Given the description of an element on the screen output the (x, y) to click on. 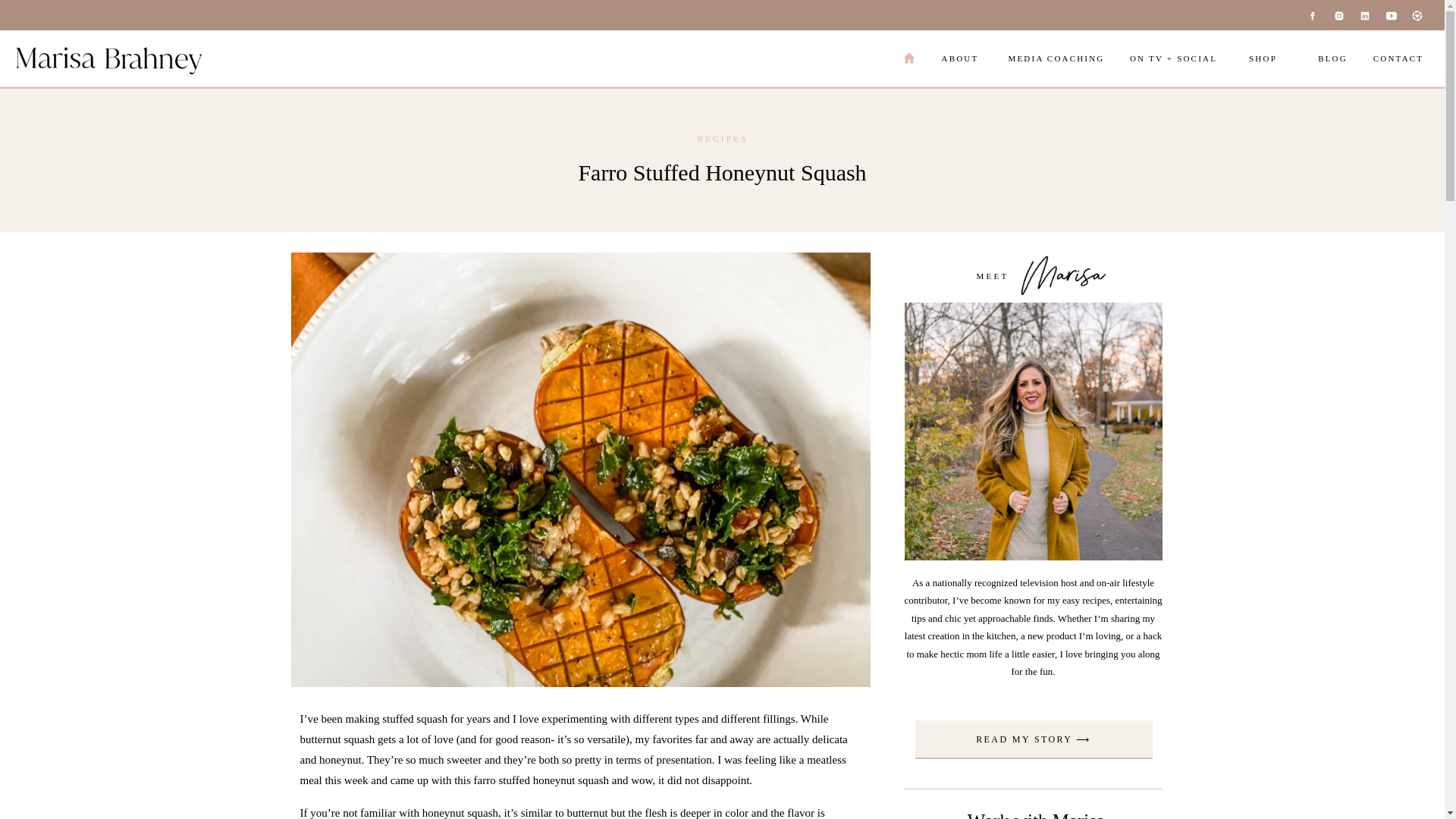
CONTACT (1397, 58)
MEDIA COACHING (1056, 58)
ABOUT (960, 58)
SHOP (1262, 58)
RECIPES (722, 138)
BLOG (1331, 58)
